Given the description of an element on the screen output the (x, y) to click on. 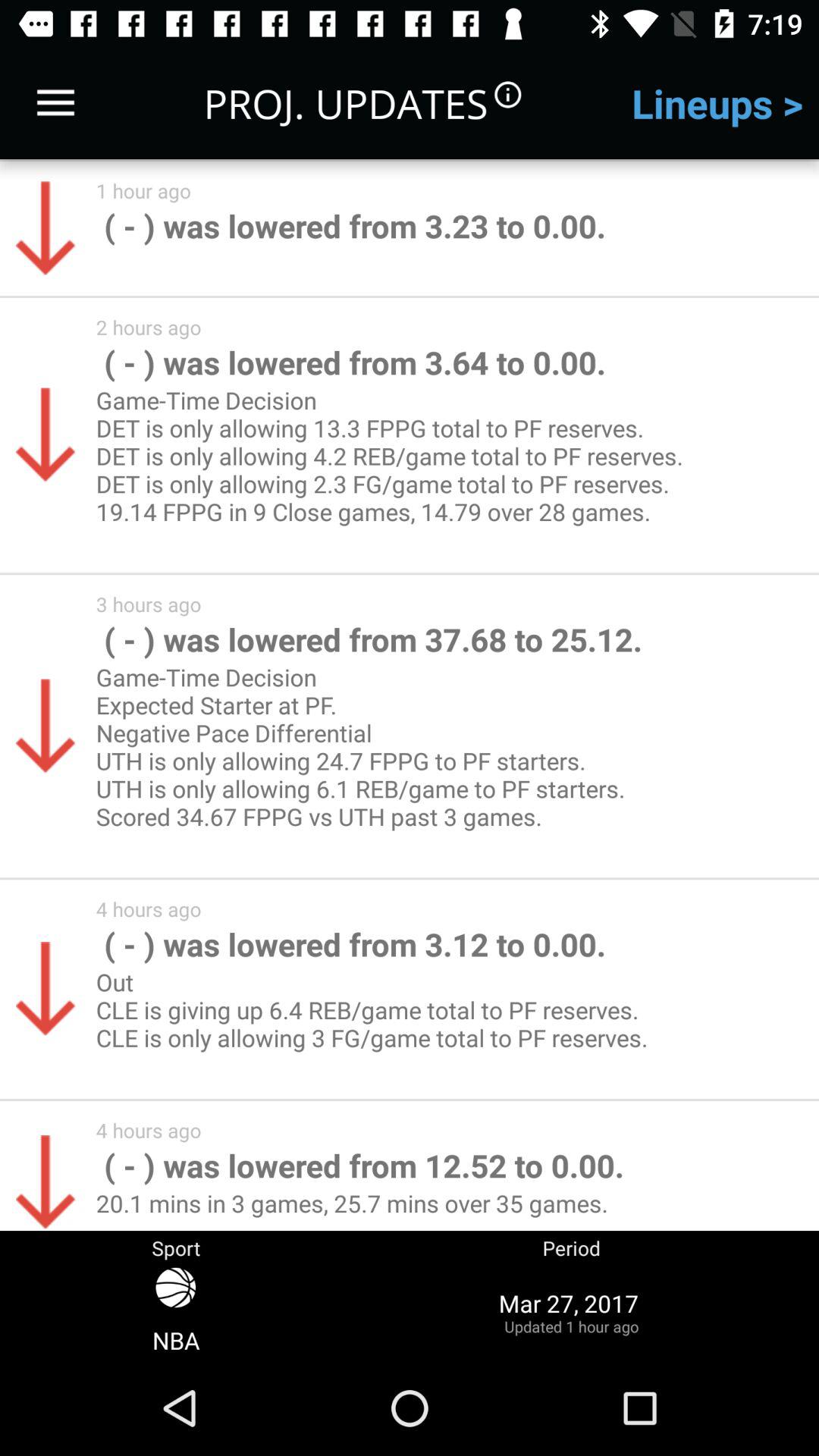
choose icon next to proj. updates icon (55, 103)
